Given the description of an element on the screen output the (x, y) to click on. 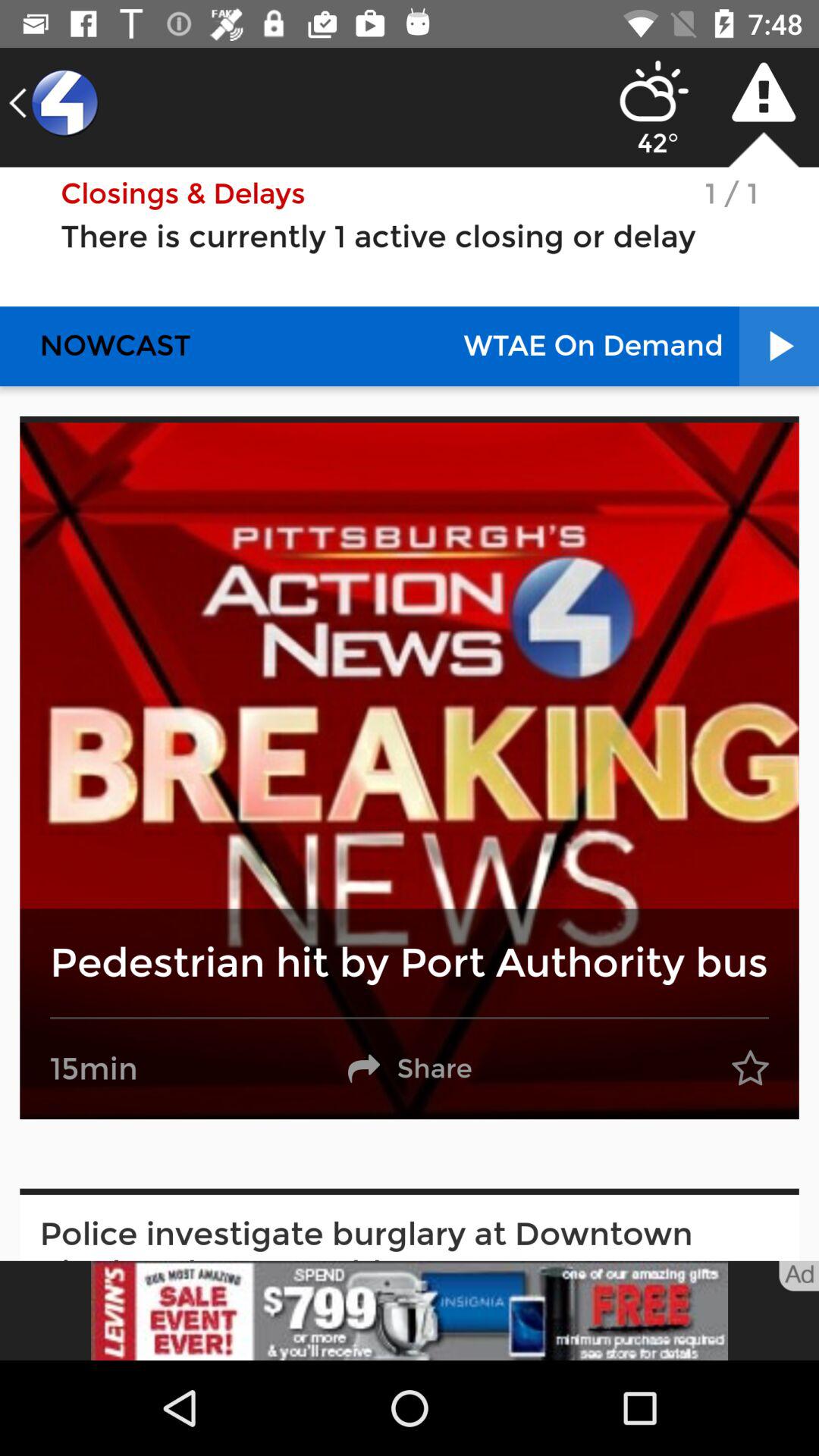
open the advertisement (409, 1310)
